Given the description of an element on the screen output the (x, y) to click on. 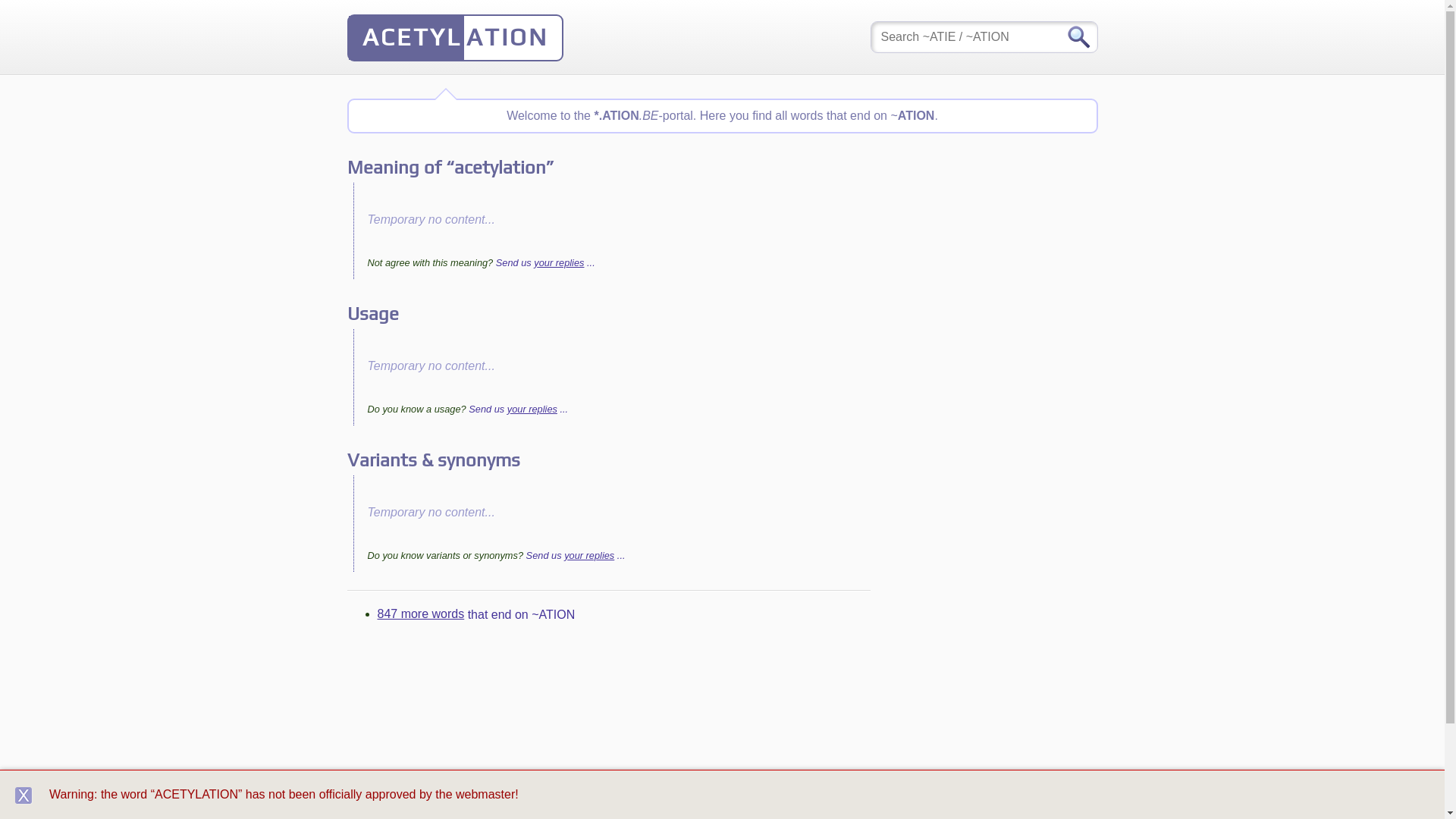
Send us your replies ... Element type: text (575, 555)
close Element type: hover (23, 795)
Send us your replies ... Element type: text (517, 408)
Send us your replies ... Element type: text (545, 262)
  Element type: text (23, 795)
847 more words that end on ~ATION Element type: text (476, 613)
